Given the description of an element on the screen output the (x, y) to click on. 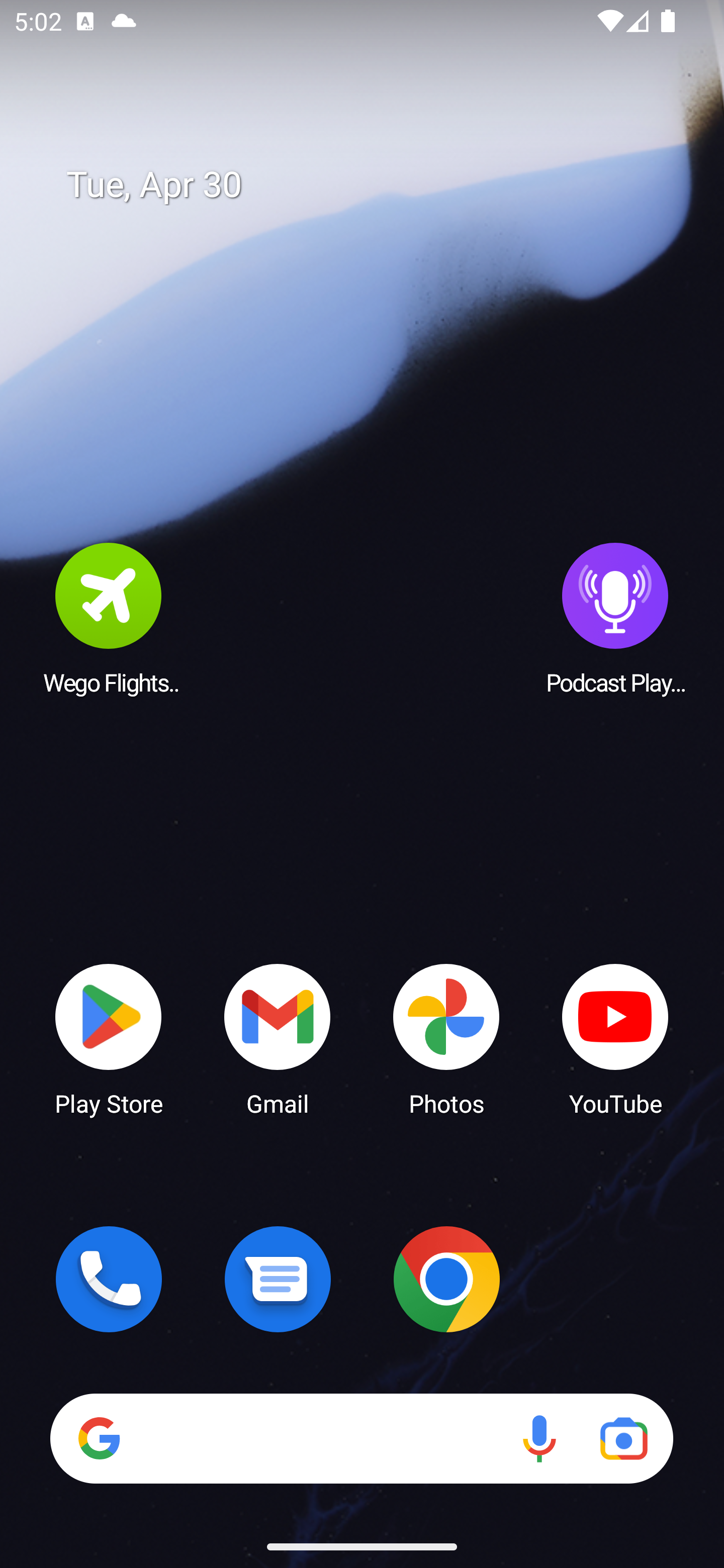
Tue, Apr 30 (375, 184)
Wego Flights & Hotels (108, 617)
Podcast Player (615, 617)
Play Store (108, 1038)
Gmail (277, 1038)
Photos (445, 1038)
YouTube (615, 1038)
Phone (108, 1279)
Messages (277, 1279)
Chrome (446, 1279)
Voice search (539, 1438)
Google Lens (623, 1438)
